Given the description of an element on the screen output the (x, y) to click on. 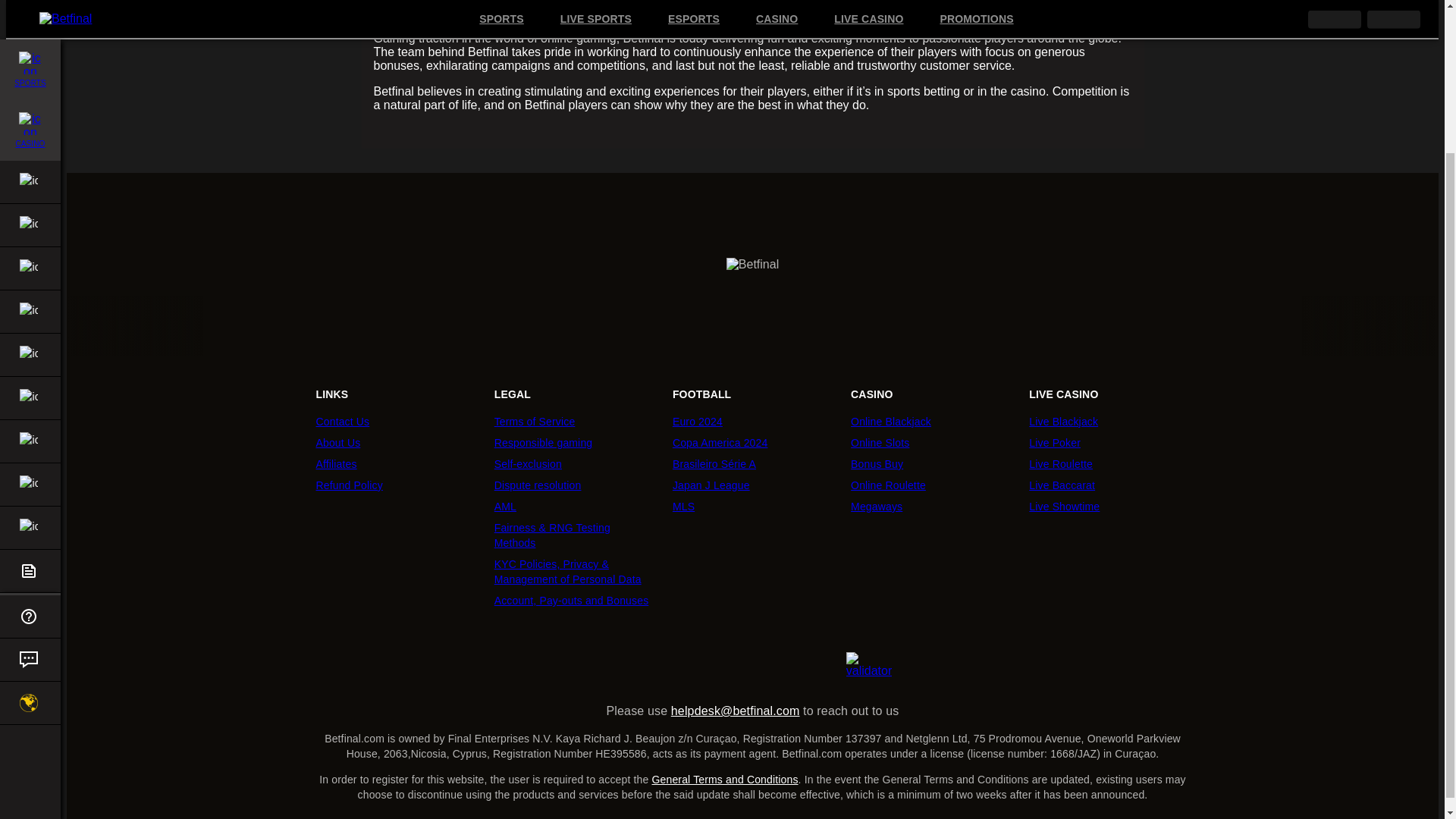
Enjoy the Top GameArt Online Slots (1119, 326)
A Place for the Hottest Microgaming Slots and Jackpots (1355, 326)
Playson Fun Hold and Win Online Slots to Spin (724, 326)
Play Top Habanero Slots for Real Money (408, 326)
The Best Live Dealer Game Provider on the Market (883, 326)
Play the Best iSoftBet Slots for Real Money (1276, 326)
Play Top Habanero Slots for Real Money (1197, 326)
Play the Top Live Casino Games by Ezugi (1040, 326)
The Best Live Dealer Game Provider on the Market (93, 326)
Play the Top Live Casino Games by Ezugi (251, 326)
Play the Best Pragmatic Play Online Slots for Real Money (803, 326)
A Place for the Hottest Microgaming Slots and Jackpots (567, 326)
Play the Best iSoftBet Slots for Real Money (488, 326)
Play top NetEnt Slot Hits in the Lobby (645, 326)
Enjoy the Top GameArt Online Slots (330, 326)
